Given the description of an element on the screen output the (x, y) to click on. 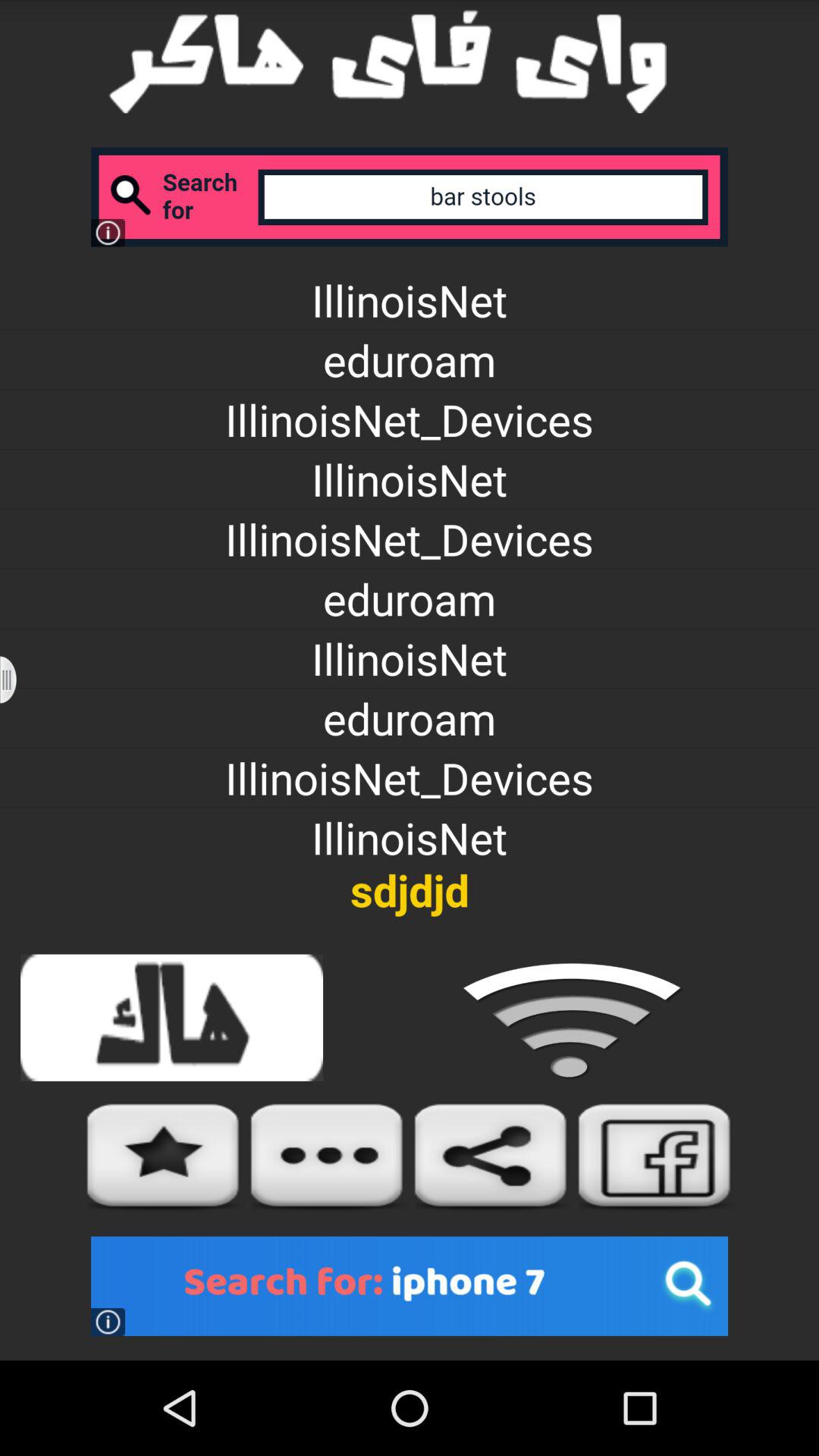
go to facebook (655, 1156)
